Given the description of an element on the screen output the (x, y) to click on. 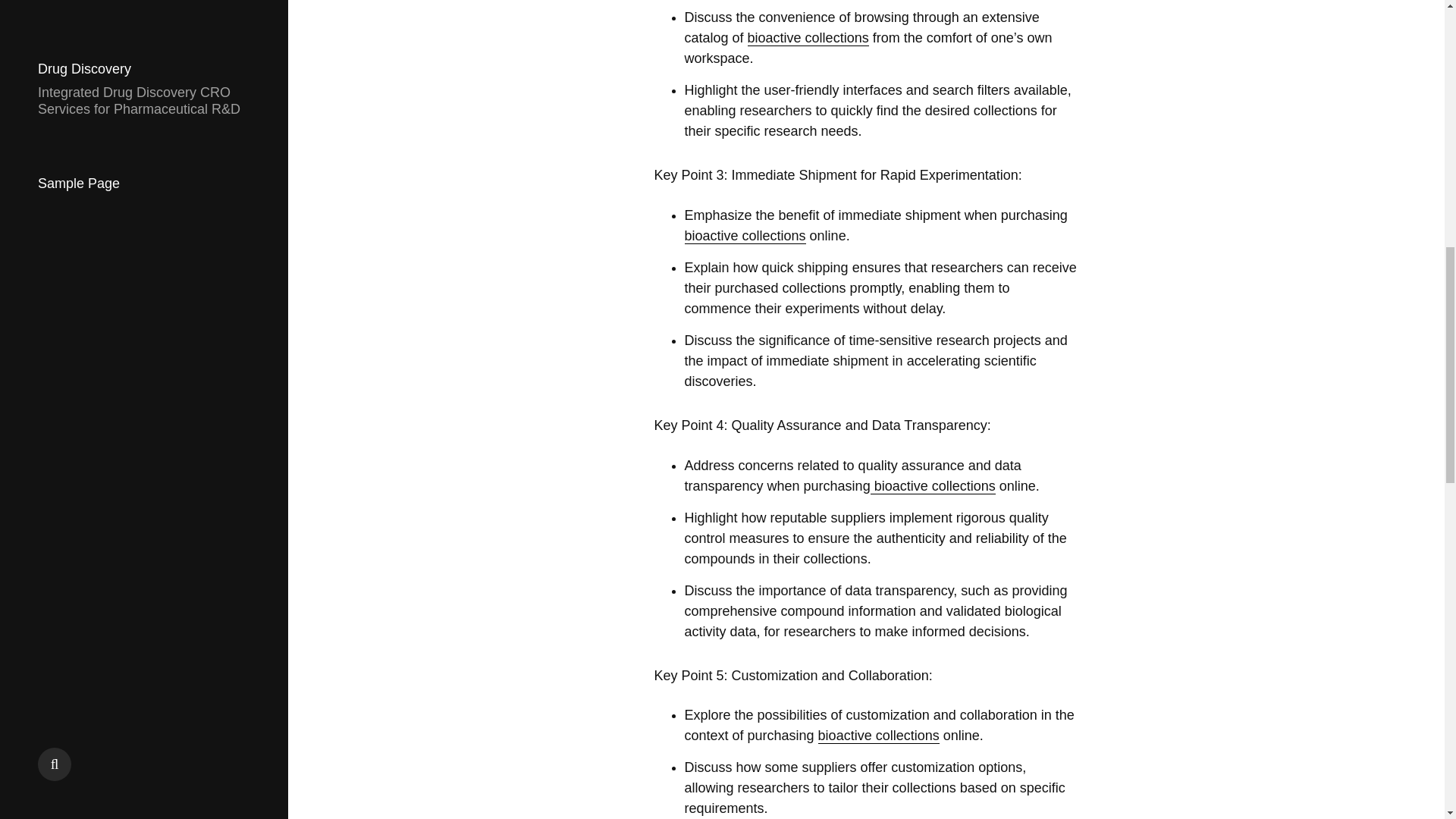
bioactive collections (932, 486)
bioactive collections (808, 37)
bioactive collections (744, 236)
bioactive collections (878, 735)
